Given the description of an element on the screen output the (x, y) to click on. 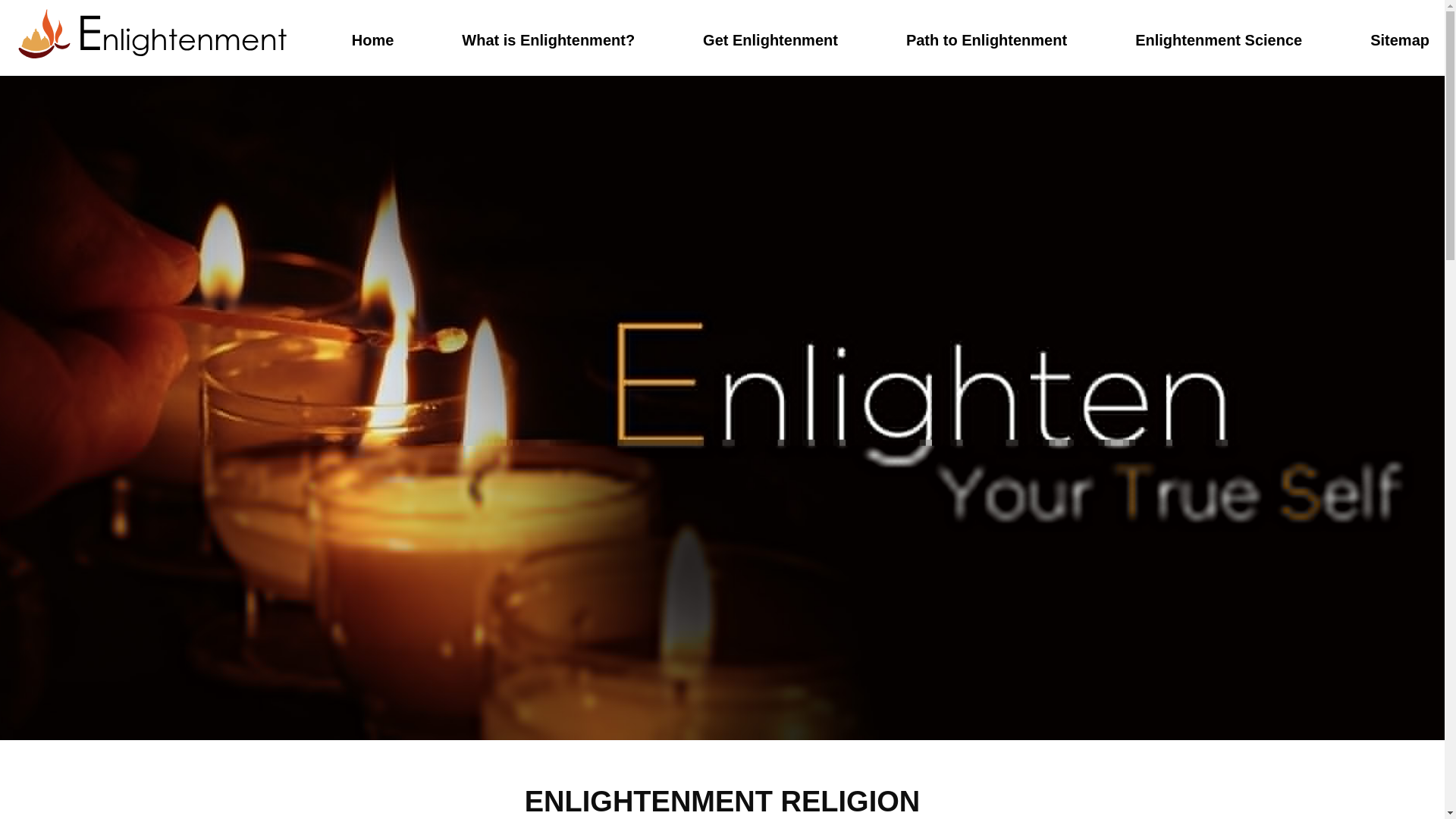
Path to Enlightenment (986, 39)
Sitemap (1399, 39)
Enlightenment Science (1218, 39)
Get Enlightenment (770, 39)
What is Enlightenment? (547, 39)
Home (373, 39)
